Given the description of an element on the screen output the (x, y) to click on. 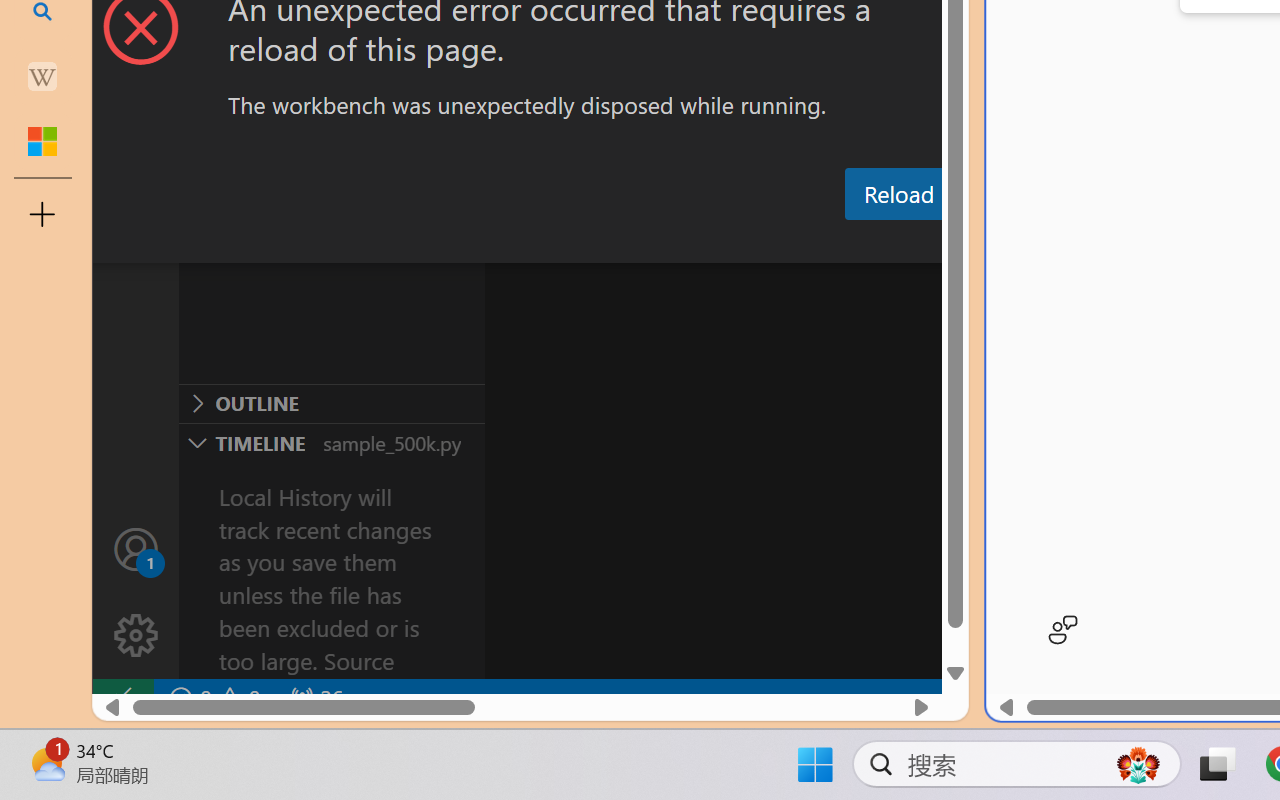
Debug Console (Ctrl+Shift+Y) (854, 243)
Timeline Section (331, 442)
Outline Section (331, 403)
remote (122, 698)
